Given the description of an element on the screen output the (x, y) to click on. 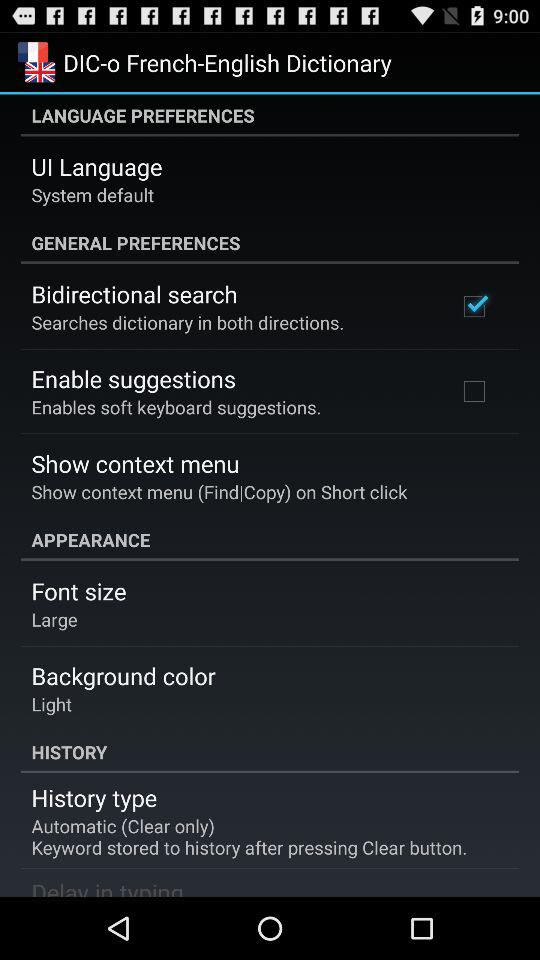
tap app below history type icon (249, 836)
